Given the description of an element on the screen output the (x, y) to click on. 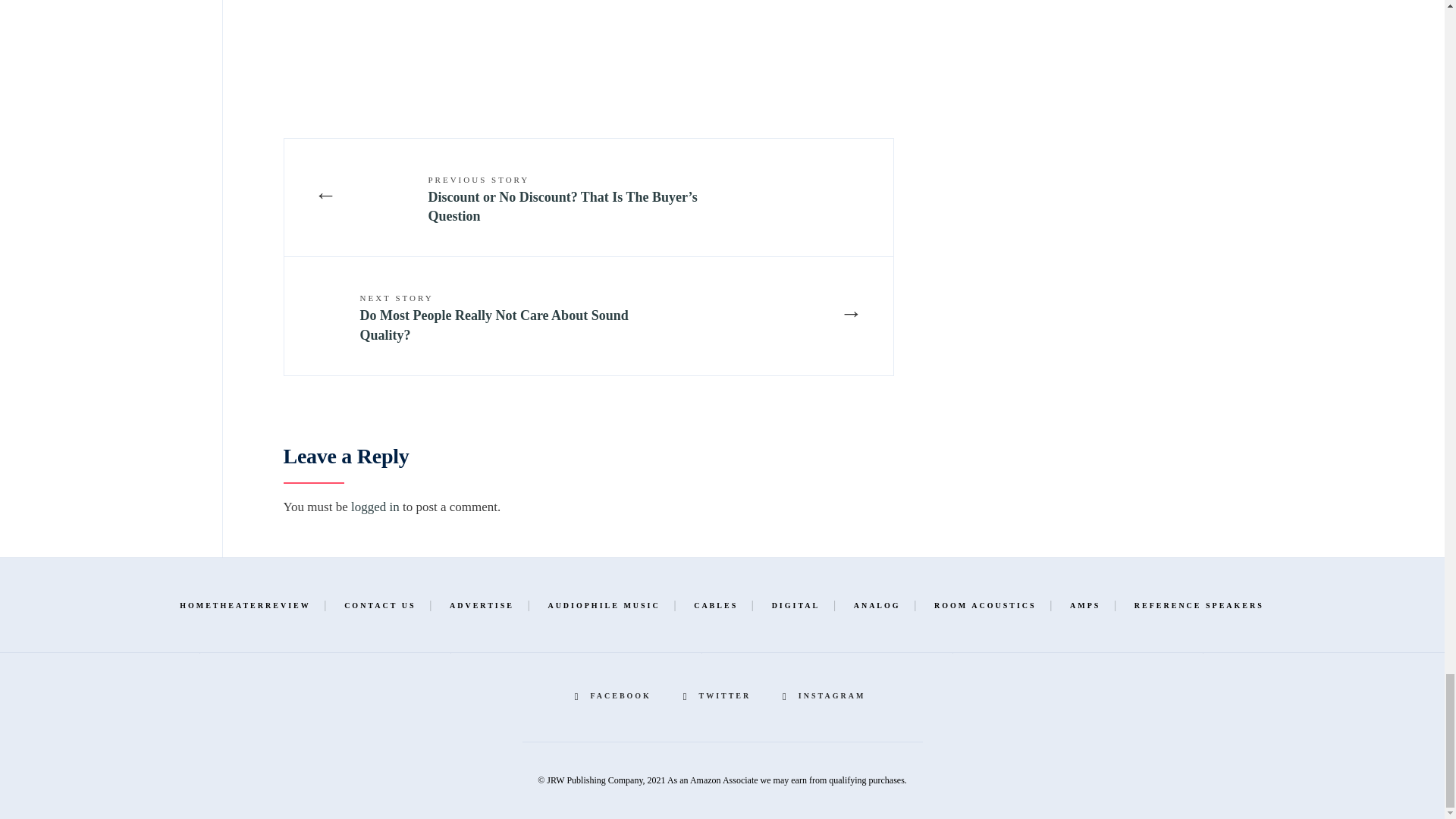
logged in (374, 506)
Twitter (719, 695)
Instagram (826, 695)
Facebook (615, 695)
